Given the description of an element on the screen output the (x, y) to click on. 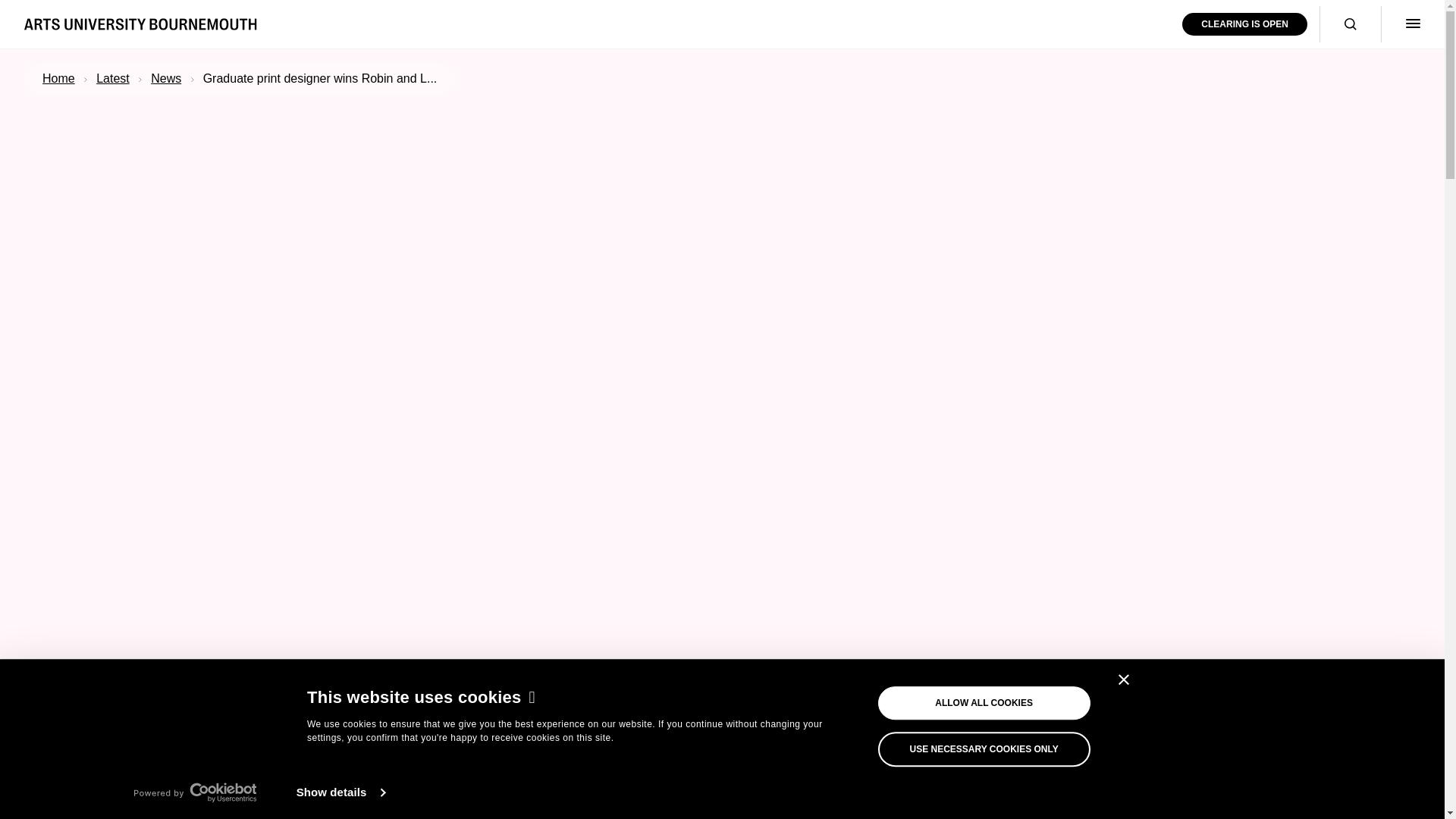
Show details (340, 792)
